Given the description of an element on the screen output the (x, y) to click on. 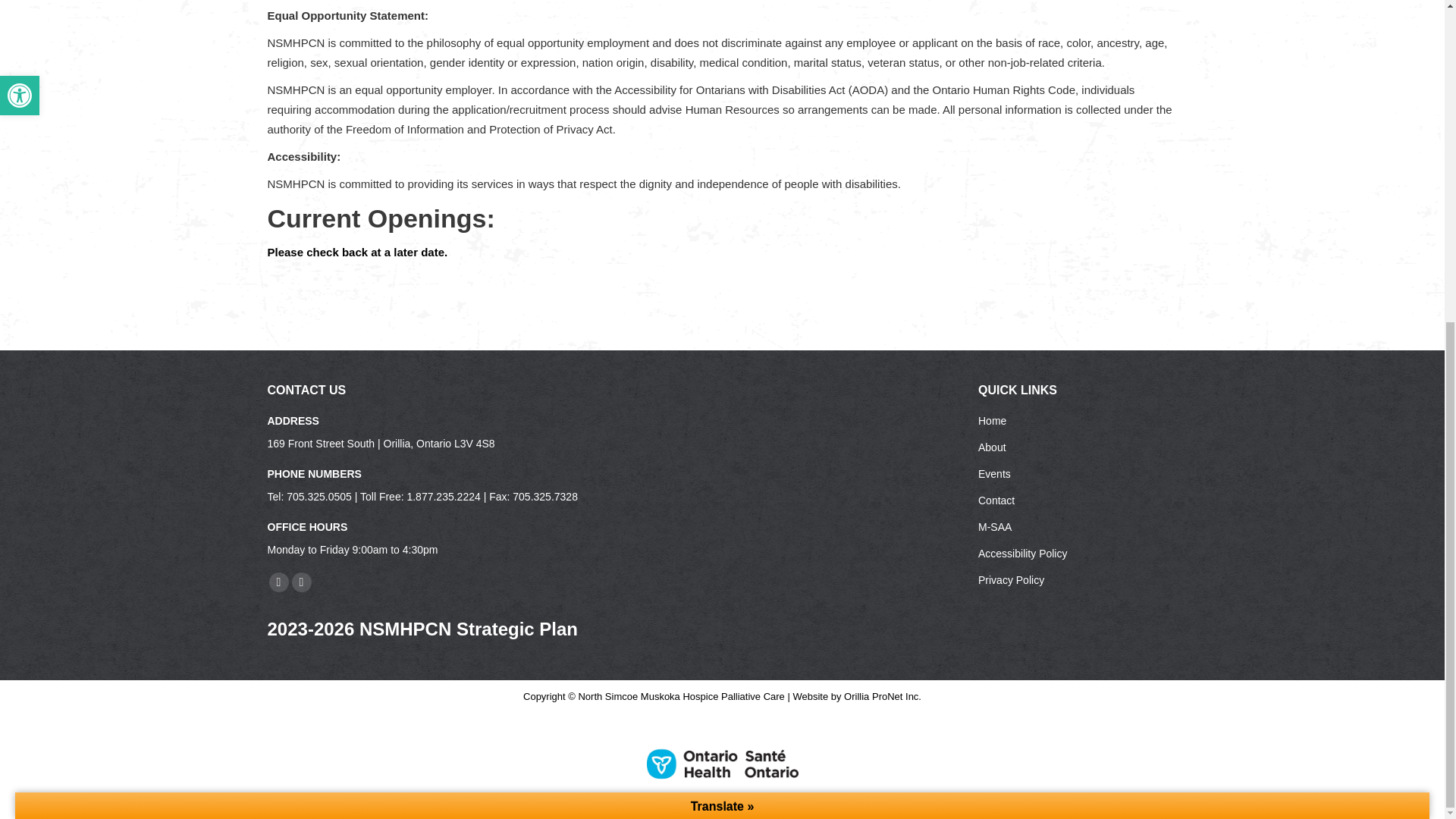
Facebook page opens in new window (277, 582)
X page opens in new window (301, 582)
